Given the description of an element on the screen output the (x, y) to click on. 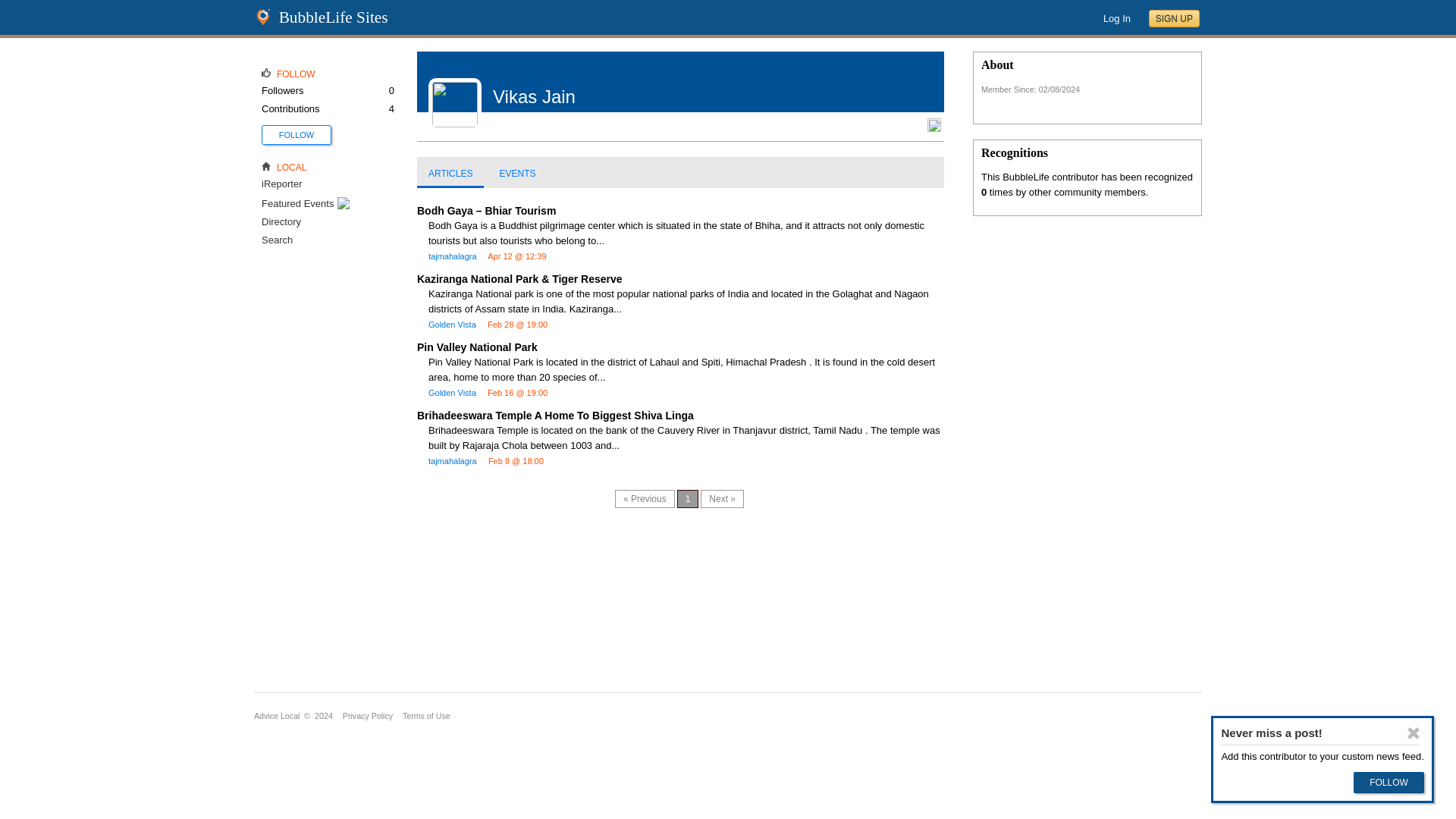
tajmahalagra (452, 256)
Directory (281, 221)
1 (687, 498)
BubbleLife Sites (333, 17)
Golden Vista (452, 392)
Already have a BubbleLife account? (1117, 18)
Golden Vista (452, 324)
iReporter (281, 183)
EVENTS (517, 173)
Pin Valley National Park (476, 346)
FOLLOW (296, 134)
Events (517, 173)
Brihadeeswara Temple A Home To Biggest Shiva Linga (555, 415)
Articles (449, 173)
tajmahalagra (452, 461)
